Given the description of an element on the screen output the (x, y) to click on. 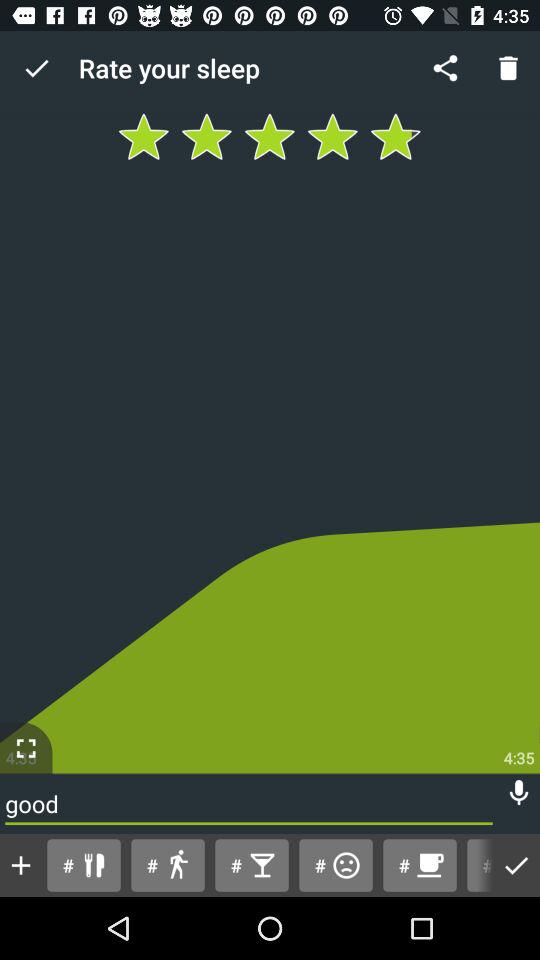
choose icon next to the rate your sleep (36, 68)
